Given the description of an element on the screen output the (x, y) to click on. 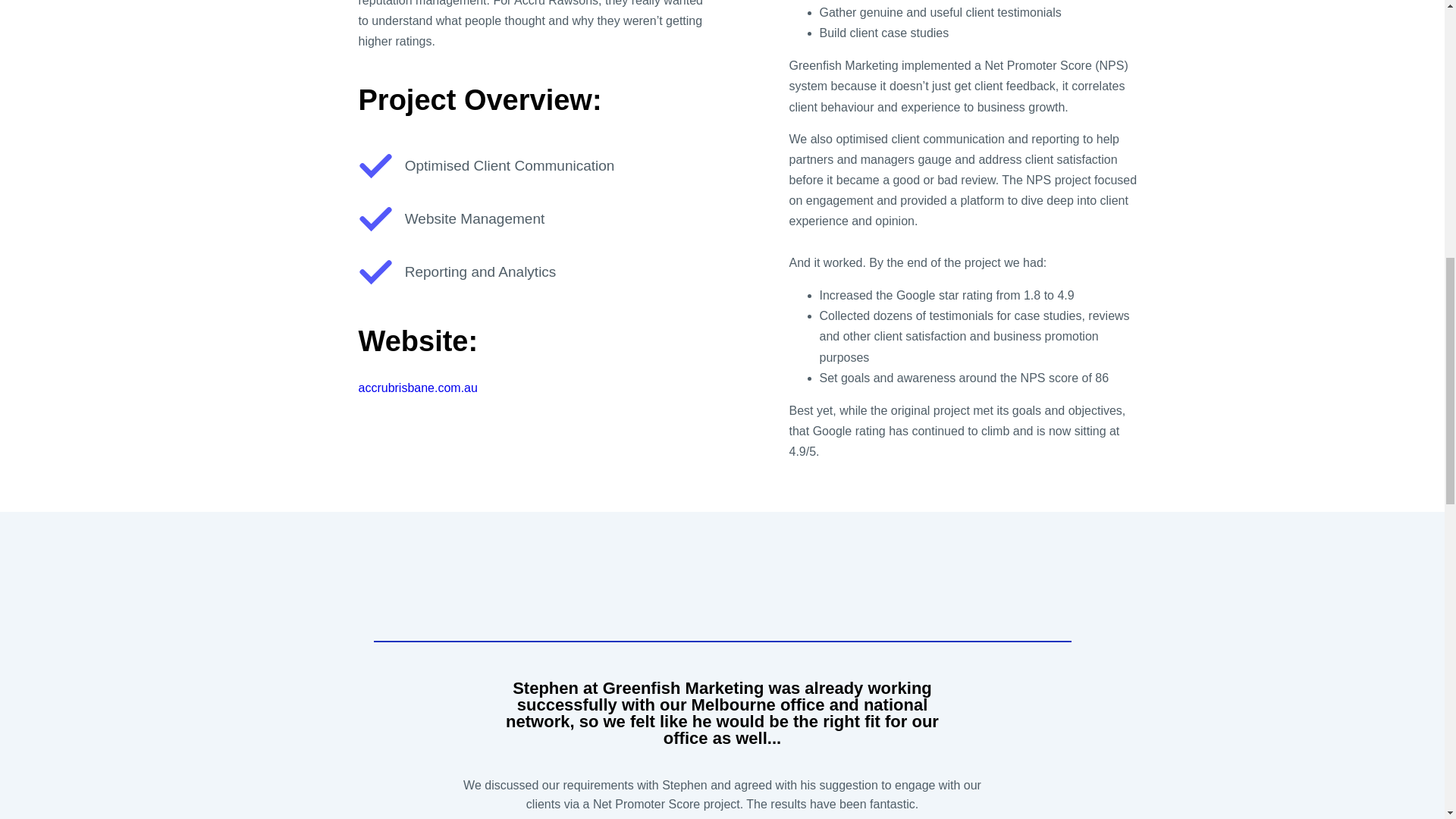
accrubrisbane.com.au (417, 387)
